Given the description of an element on the screen output the (x, y) to click on. 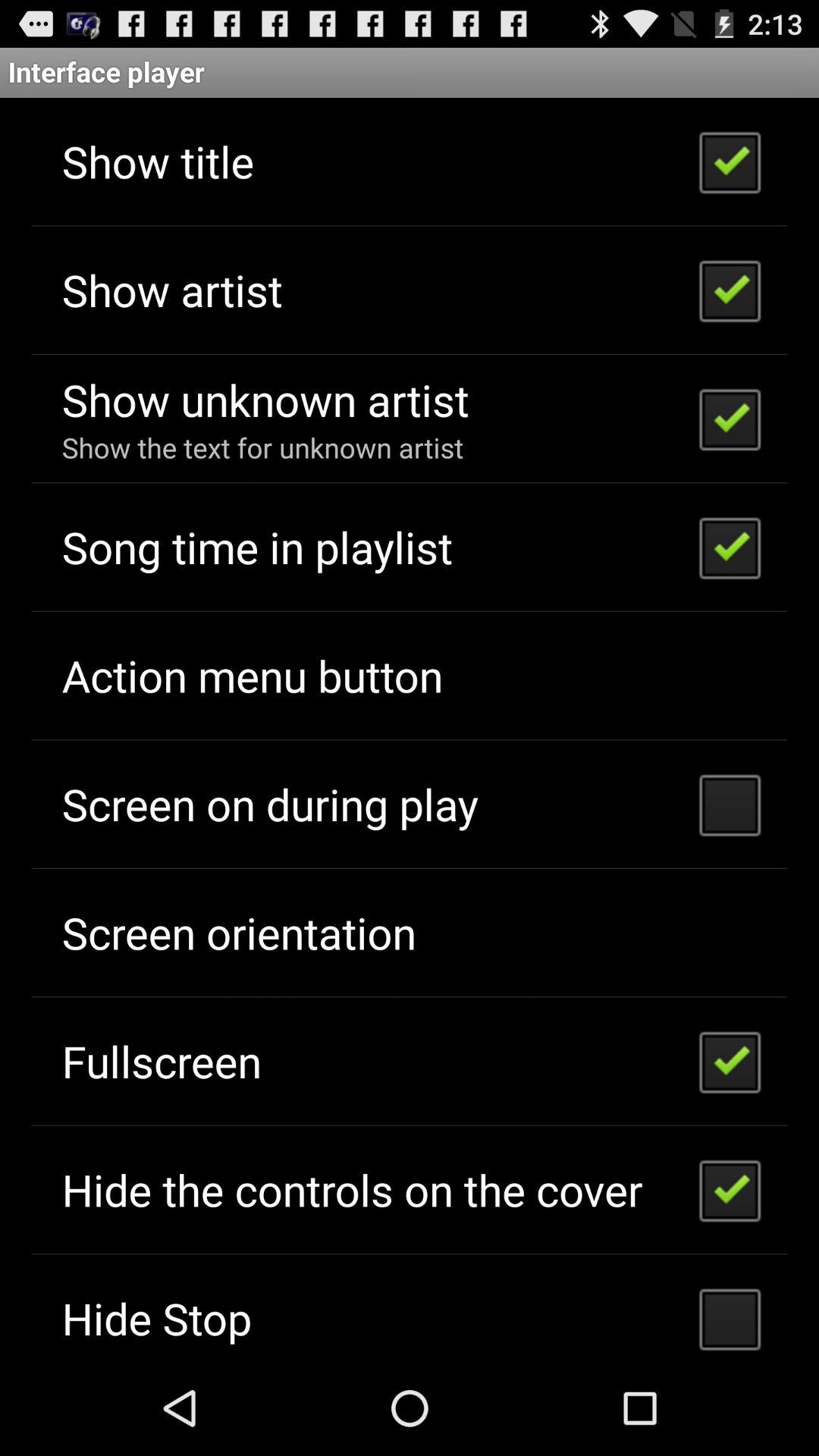
press item above hide stop icon (351, 1189)
